Given the description of an element on the screen output the (x, y) to click on. 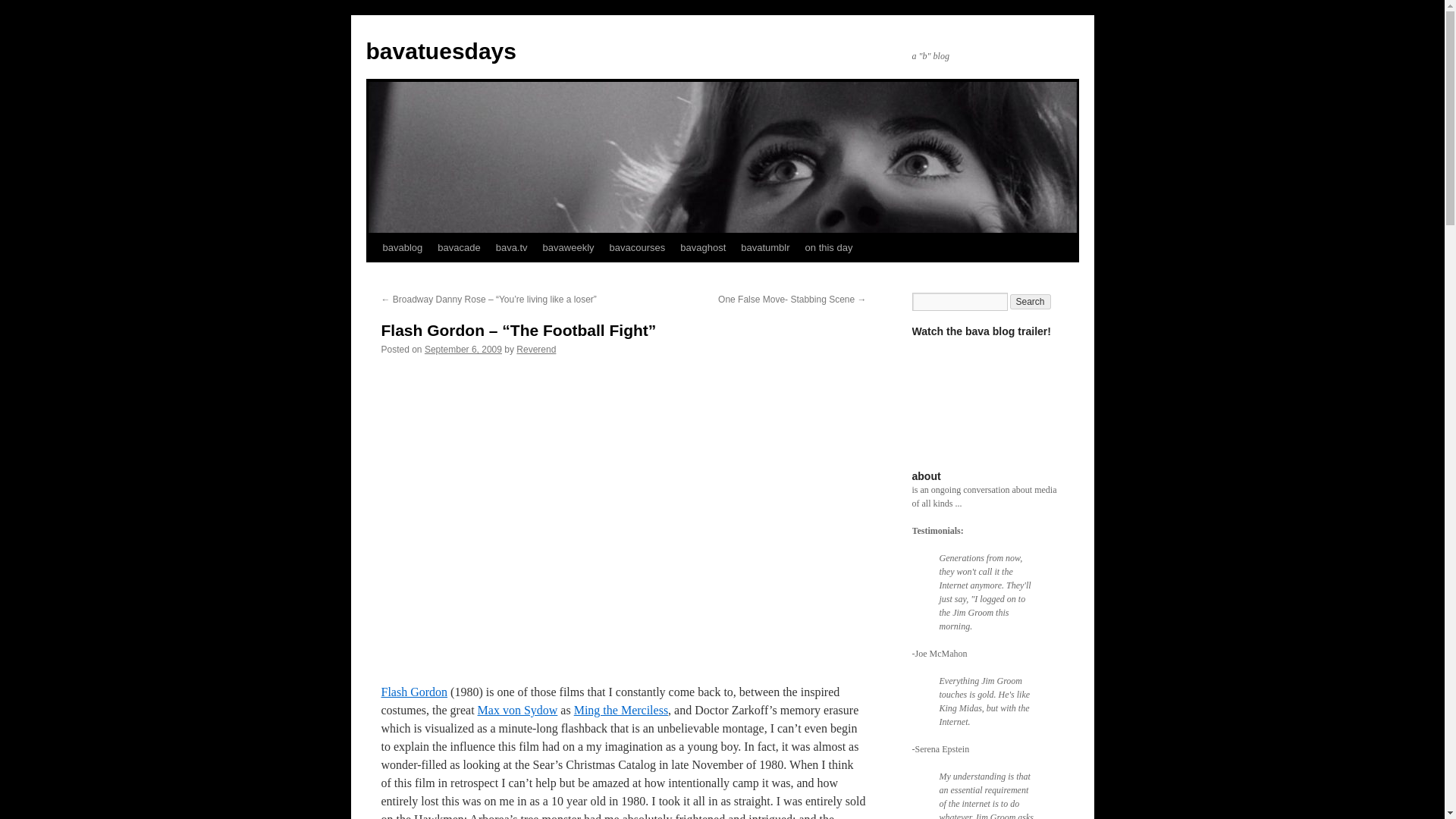
bavaweekly (568, 247)
View all posts by Reverend (536, 348)
bavatuesdays (440, 50)
bavaghost (702, 247)
1:47 am (463, 348)
bavacade (458, 247)
bavacourses (637, 247)
bavatumblr (764, 247)
Flash Gordon (413, 691)
on this day (828, 247)
Reverend (536, 348)
September 6, 2009 (463, 348)
Search (1030, 301)
bava.tv (511, 247)
Ming the Merciless (620, 709)
